Given the description of an element on the screen output the (x, y) to click on. 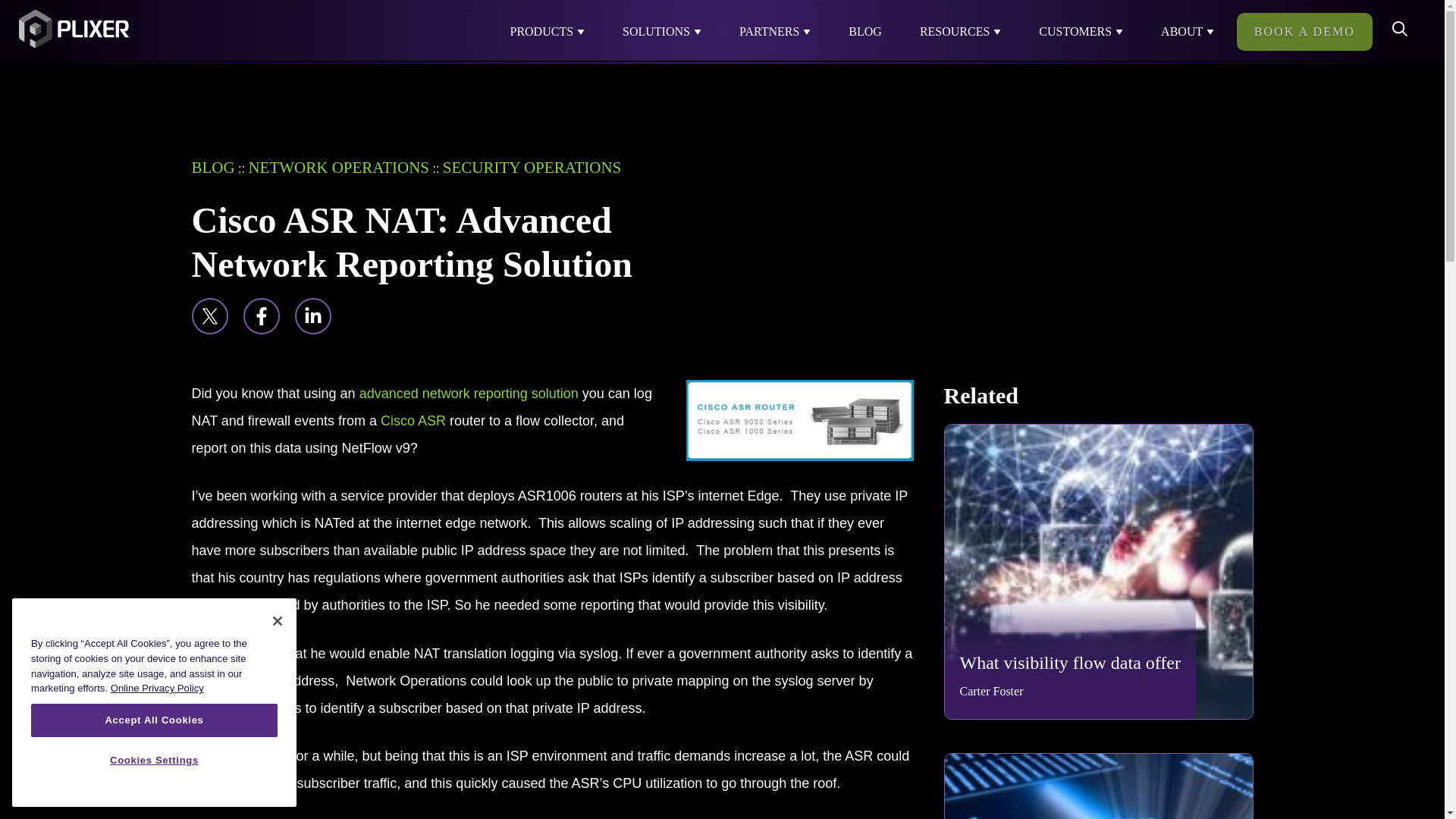
Cisco ASR Series Router (798, 420)
Advanced Network Monitoring System (468, 393)
Cisco ASR Series Router  (412, 420)
